Given the description of an element on the screen output the (x, y) to click on. 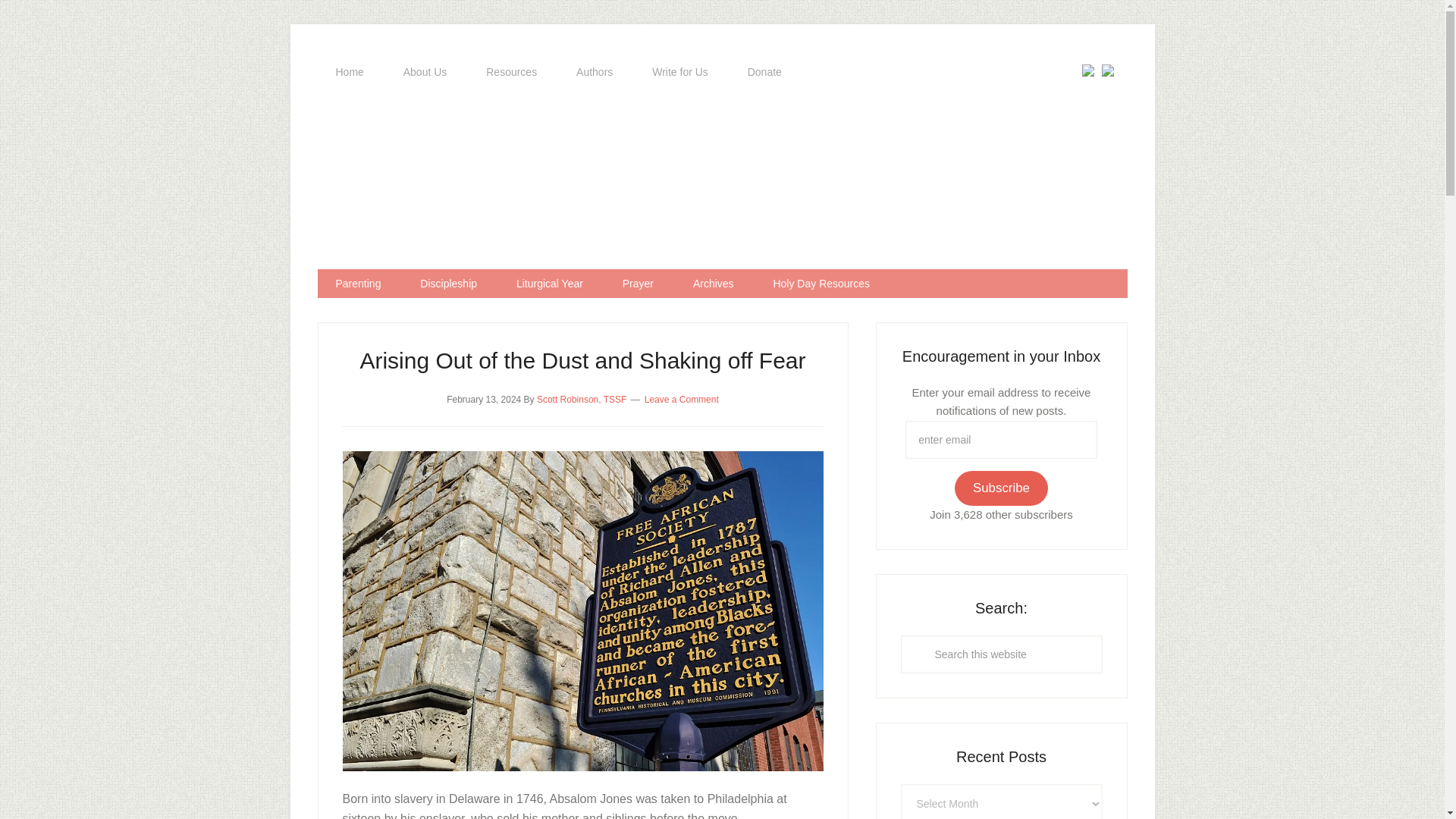
Leave a Comment (682, 398)
Write for Us (679, 71)
Discipleship (448, 283)
About Us (425, 71)
Scott Robinson, TSSF (582, 398)
Arising Out of the Dust and Shaking off Fear (582, 360)
Donate (764, 71)
Parenting (357, 283)
Authors (593, 71)
